Given the description of an element on the screen output the (x, y) to click on. 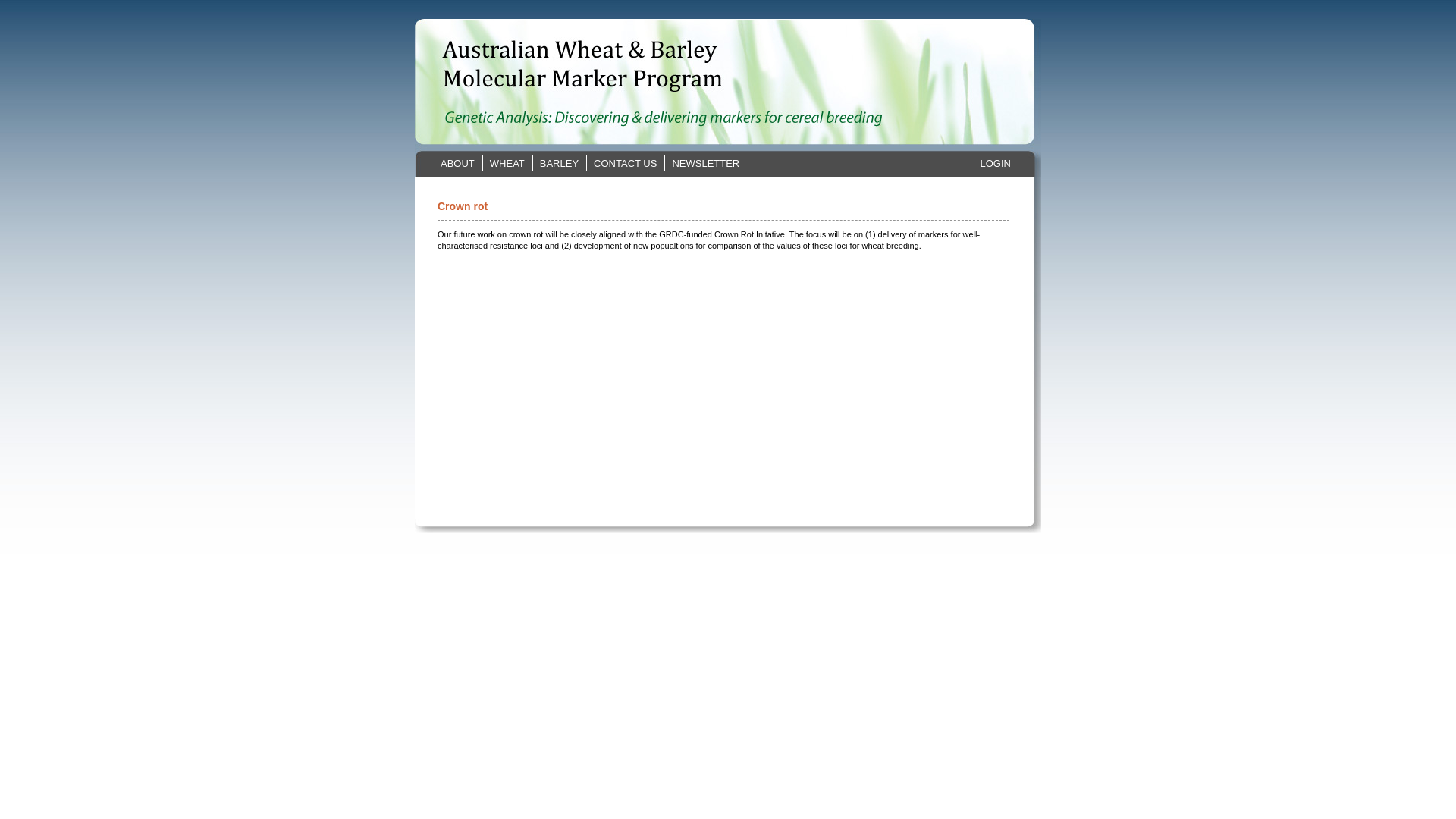
WHEAT Element type: text (507, 163)
NEWSLETTER Element type: text (705, 163)
CONTACT US Element type: text (625, 163)
LOGIN Element type: text (995, 163)
BARLEY Element type: text (559, 163)
ABOUT Element type: text (458, 163)
Site designed by Arris Pty Ltd Element type: text (728, 569)
